Given the description of an element on the screen output the (x, y) to click on. 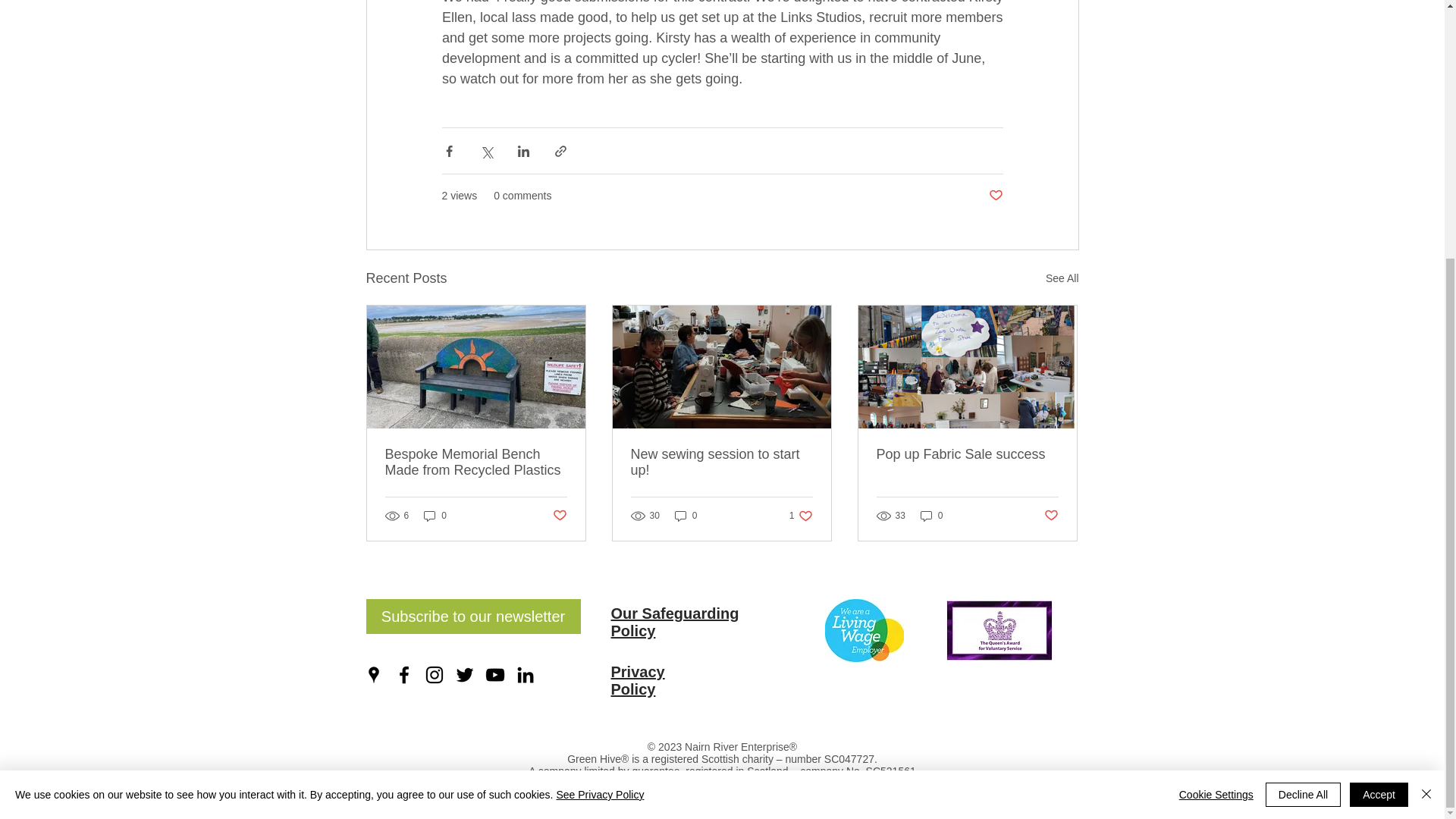
See All (1061, 278)
Post not marked as liked (995, 195)
